Given the description of an element on the screen output the (x, y) to click on. 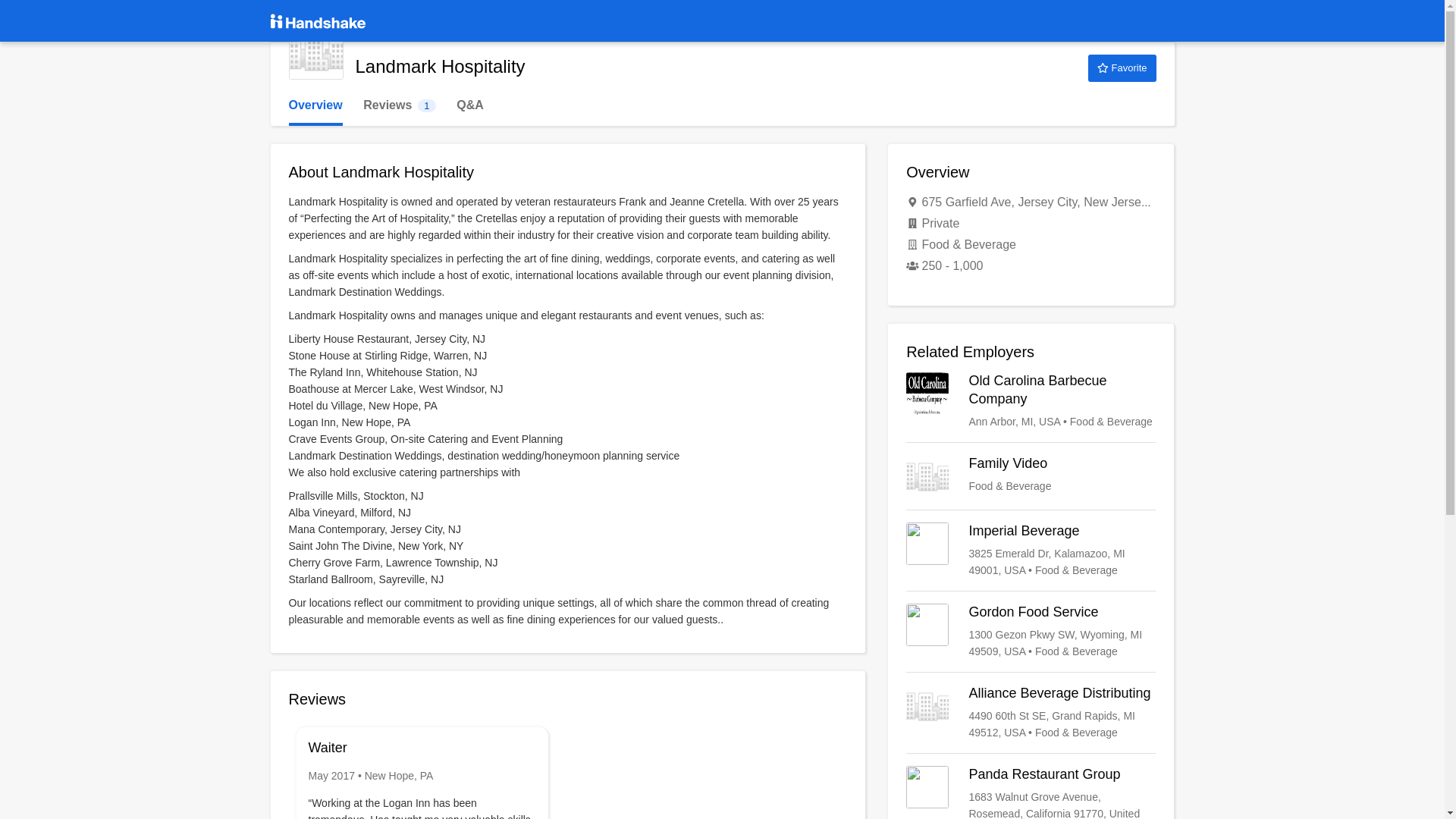
Gordon Food Service (1030, 631)
Landmark Hospitality (315, 52)
Favorite (1121, 67)
Alliance Beverage Distributing (398, 105)
Overview (1030, 712)
Panda Restaurant Group (315, 105)
Old Carolina Barbecue Company (1030, 792)
Family Video (1030, 400)
Imperial Beverage (1030, 476)
